Given the description of an element on the screen output the (x, y) to click on. 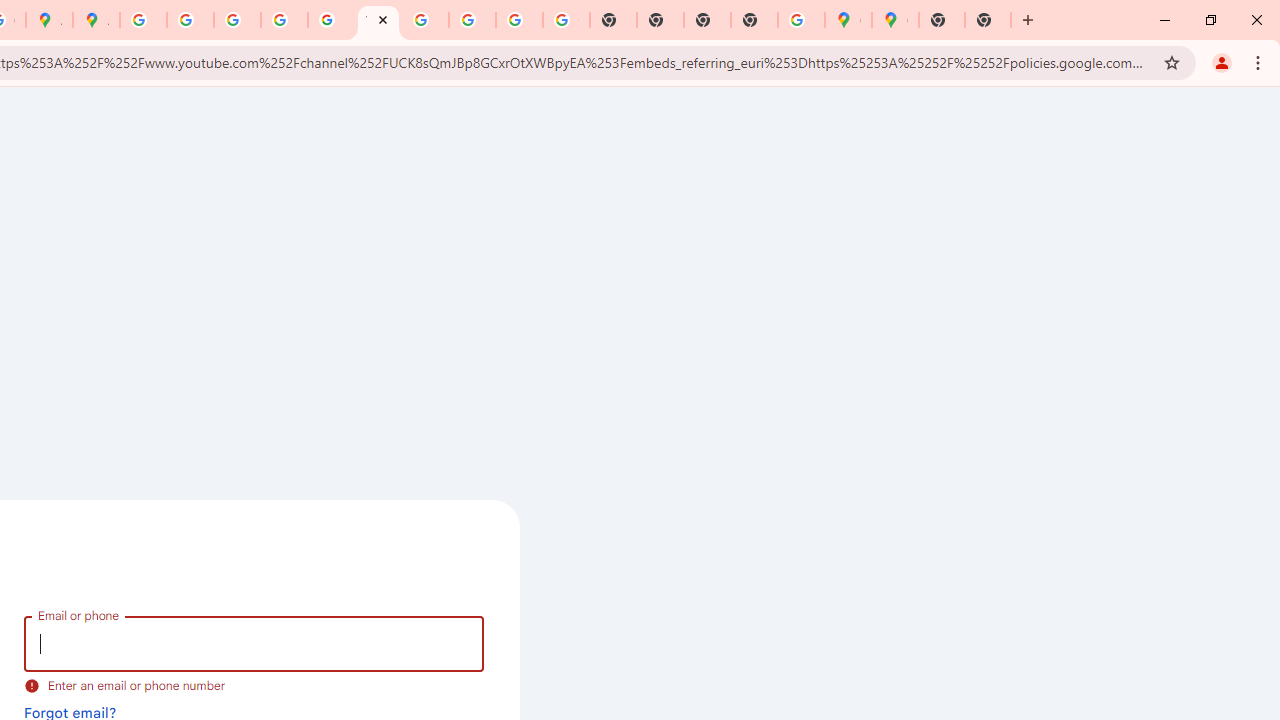
Google Maps (848, 20)
Use Google Maps in Space - Google Maps Help (801, 20)
YouTube (377, 20)
Google Maps (895, 20)
Policy Accountability and Transparency - Transparency Center (143, 20)
Privacy Help Center - Policies Help (189, 20)
